Given the description of an element on the screen output the (x, y) to click on. 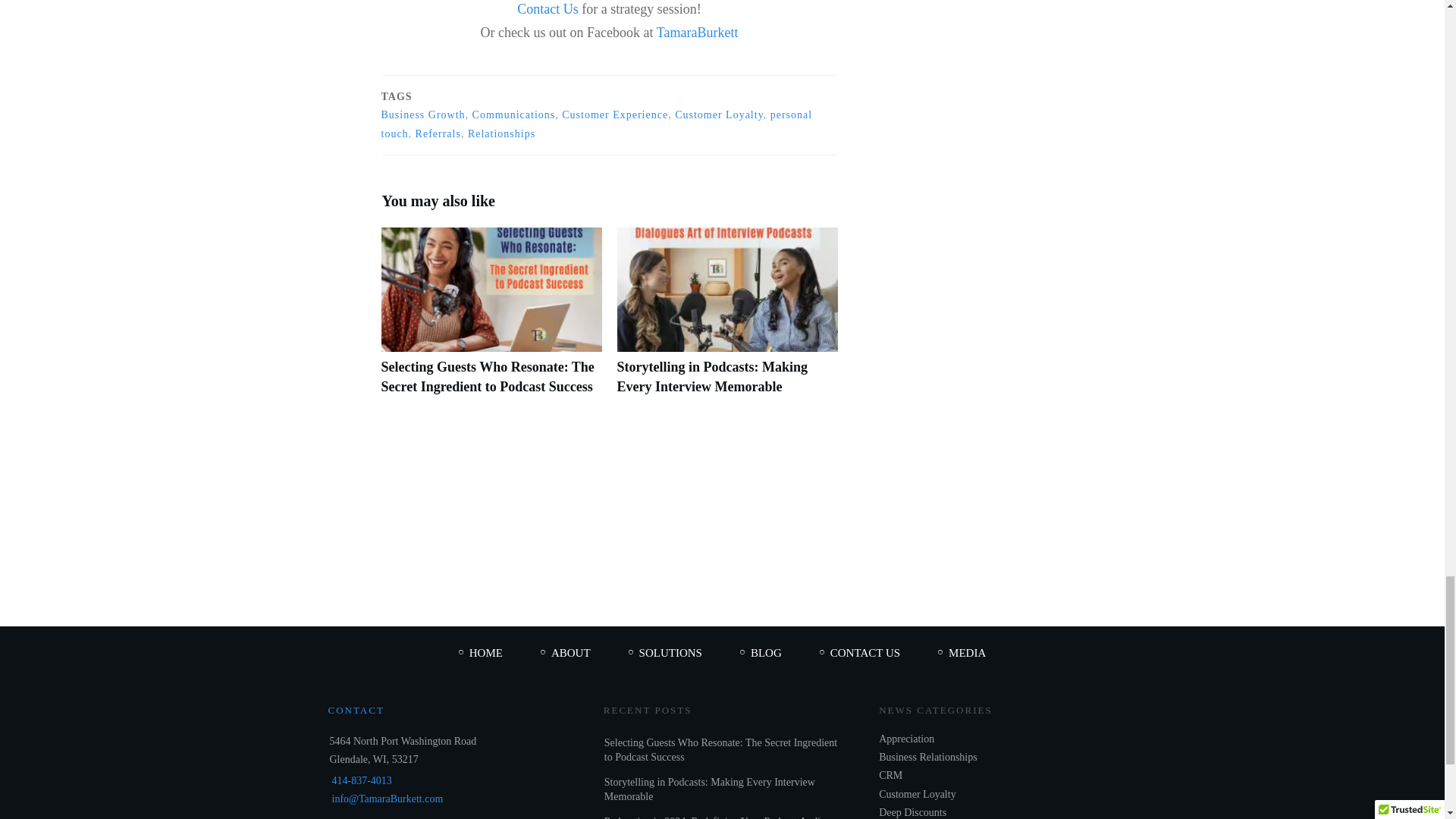
personal touch (596, 123)
personal touch (596, 123)
TamaraBurkett (695, 32)
Communications (513, 114)
Customer Loyalty (718, 114)
Storytelling in Podcasts: Making Every Interview Memorable (727, 319)
Referrals (437, 133)
Contact Us (547, 8)
Relationships (501, 133)
Customer Loyalty (718, 114)
Communications (513, 114)
Customer Experience (615, 114)
